Given the description of an element on the screen output the (x, y) to click on. 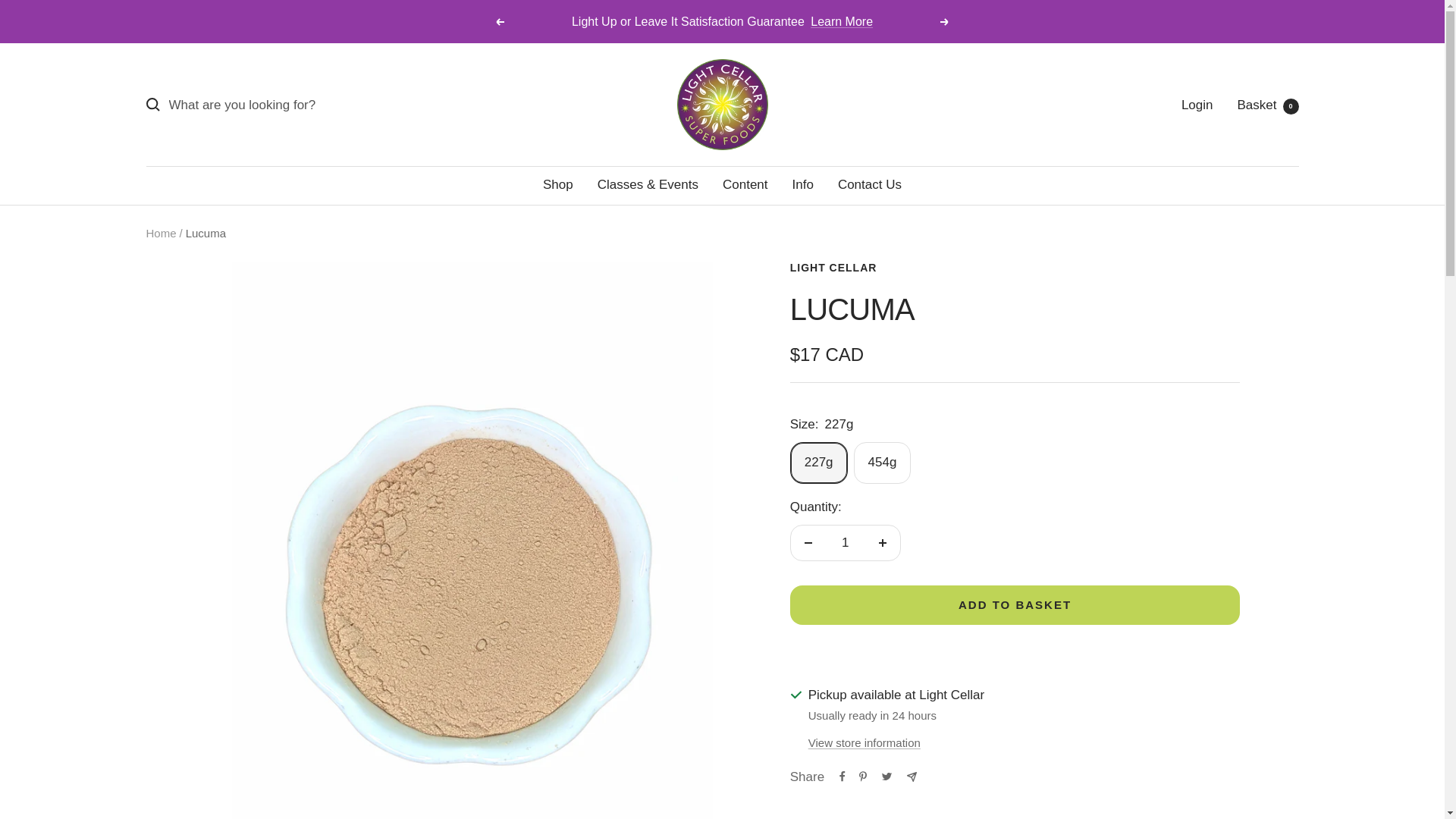
1 (844, 542)
Home (160, 232)
Learn More (841, 21)
Previous (499, 21)
Login (1196, 104)
Light Cellar (722, 103)
Contact Us (869, 184)
Shop (558, 184)
